Given the description of an element on the screen output the (x, y) to click on. 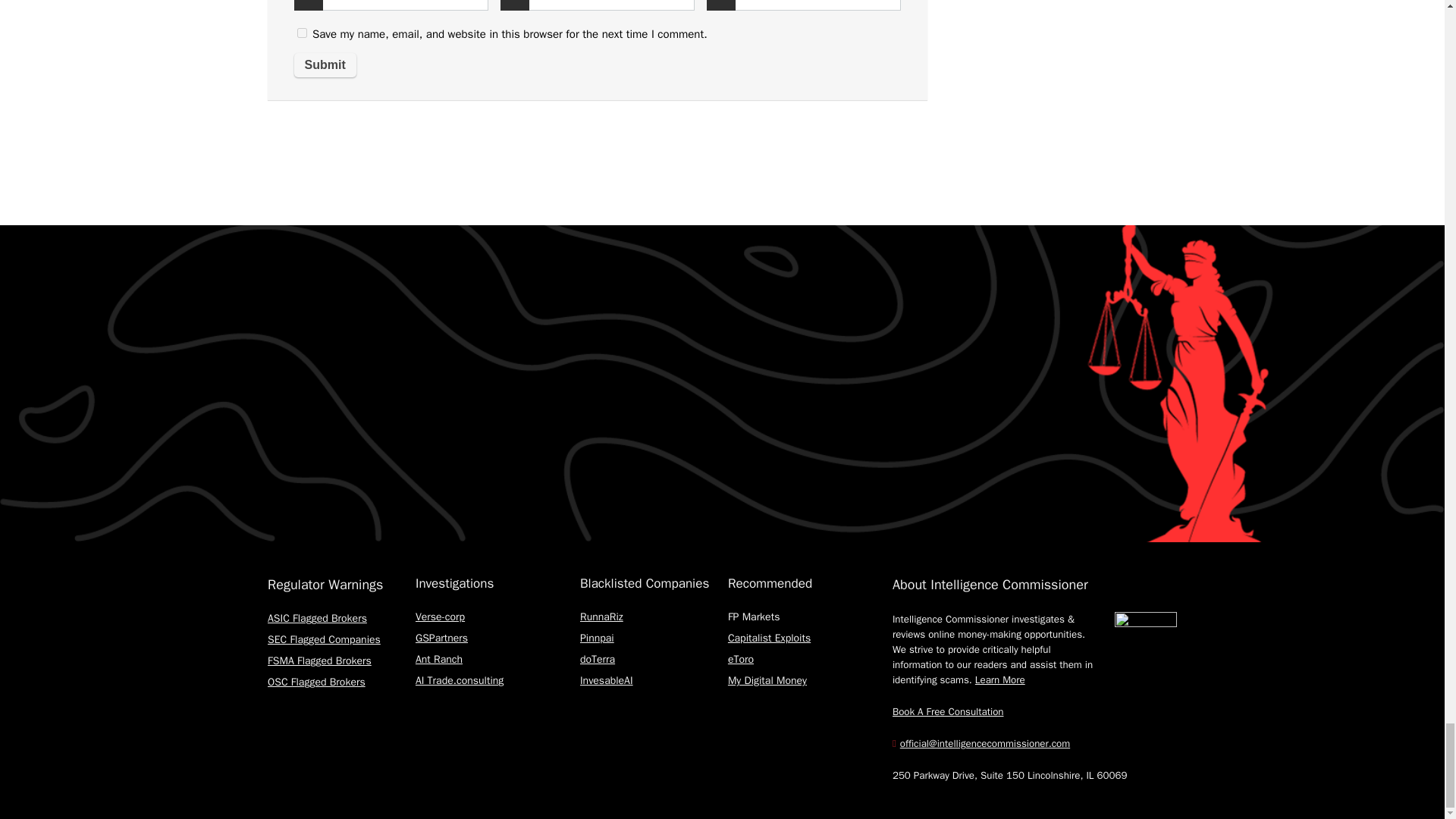
yes (302, 32)
MyCB (948, 711)
Submit (325, 64)
